Given the description of an element on the screen output the (x, y) to click on. 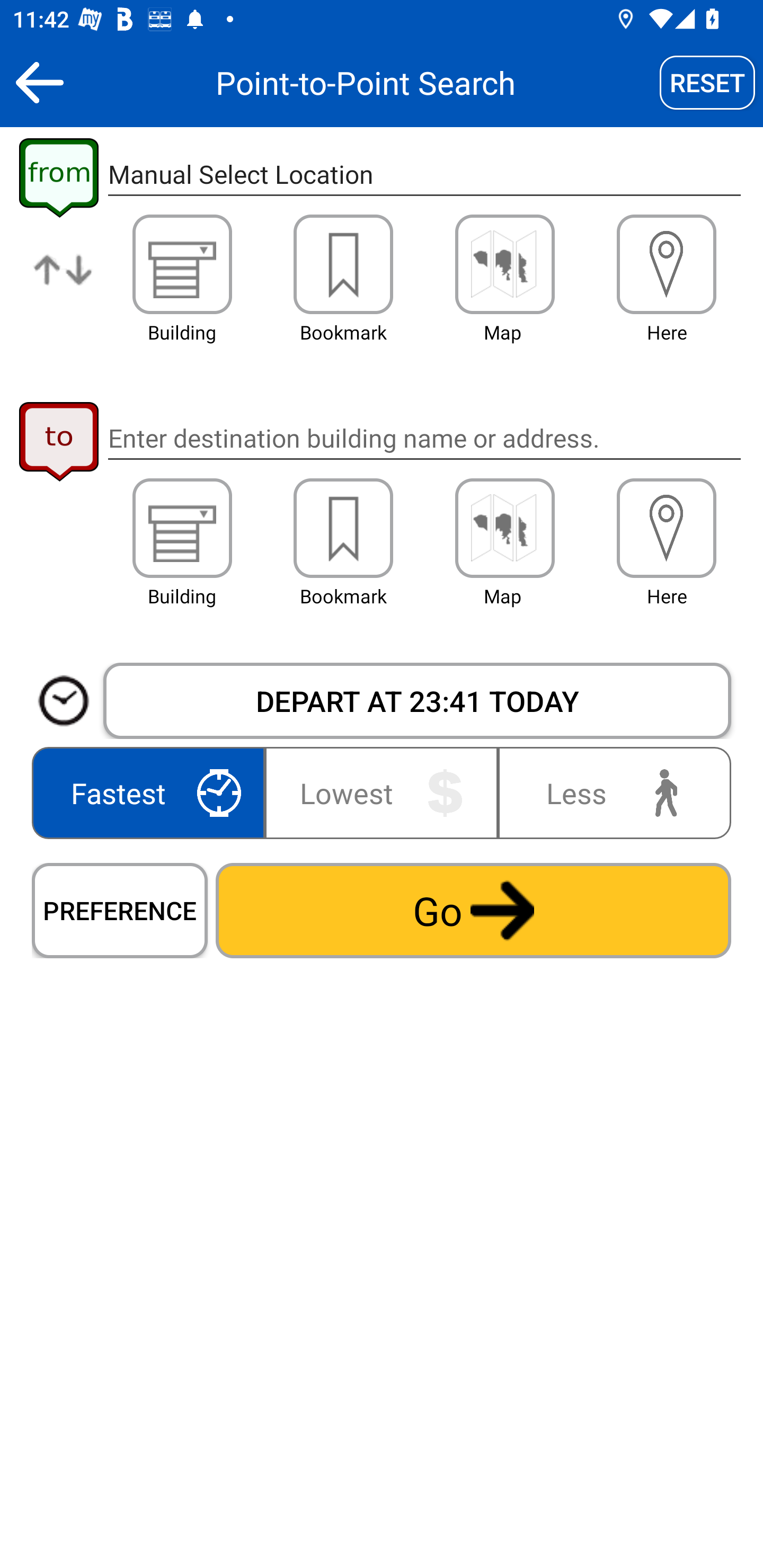
Back (39, 82)
RESET Reset (707, 81)
Manual Select Location (423, 174)
Building (181, 263)
Bookmarks (342, 263)
Select location on map (504, 263)
Here (666, 263)
Swap origin and destination (63, 284)
Enter destination building name or address. (423, 437)
Building (181, 528)
Bookmarks (342, 528)
Select location on map (504, 528)
Here (666, 528)
Lowest (381, 792)
Fastest selected (151, 792)
Less (610, 792)
PREFERENCE Preference (119, 910)
Go (472, 910)
